Given the description of an element on the screen output the (x, y) to click on. 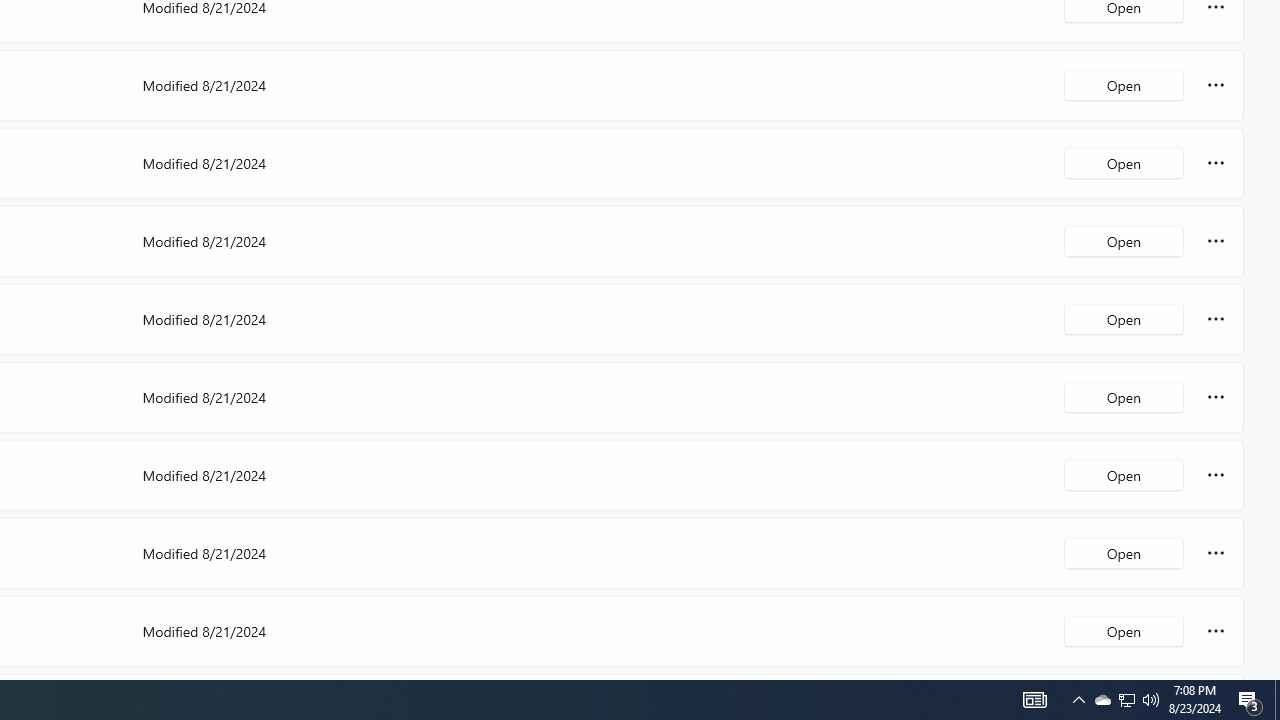
Open (1123, 630)
More options (1215, 630)
